Given the description of an element on the screen output the (x, y) to click on. 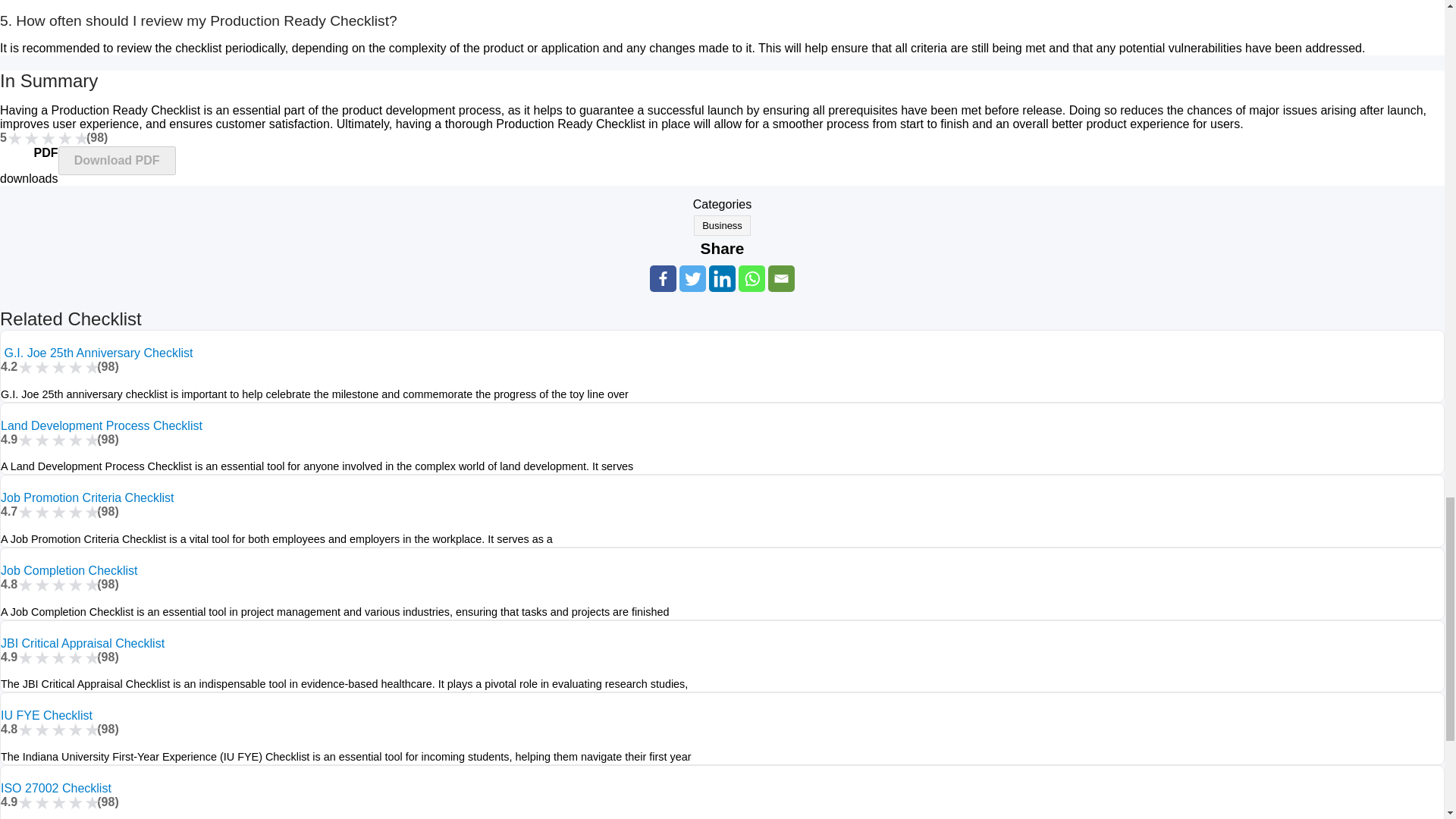
Facebook (663, 278)
Job Completion Checklist (69, 570)
IU FYE Checklist (47, 715)
Job Promotion Criteria Checklist (87, 497)
Email (781, 278)
Download PDF (116, 160)
Business (722, 225)
JBI Critical Appraisal Checklist (82, 643)
Land Development Process Checklist (101, 425)
Twitter (692, 278)
Whatsapp (751, 278)
 G.I. Joe 25th Anniversary Checklist (96, 352)
Linkedin (722, 278)
ISO 27002 Checklist (56, 788)
